Given the description of an element on the screen output the (x, y) to click on. 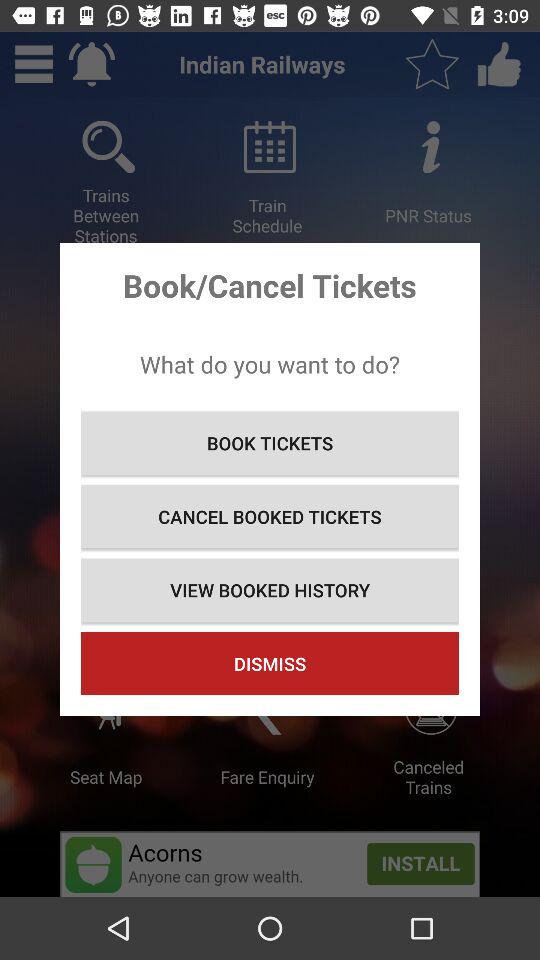
flip until view booked history item (270, 589)
